Given the description of an element on the screen output the (x, y) to click on. 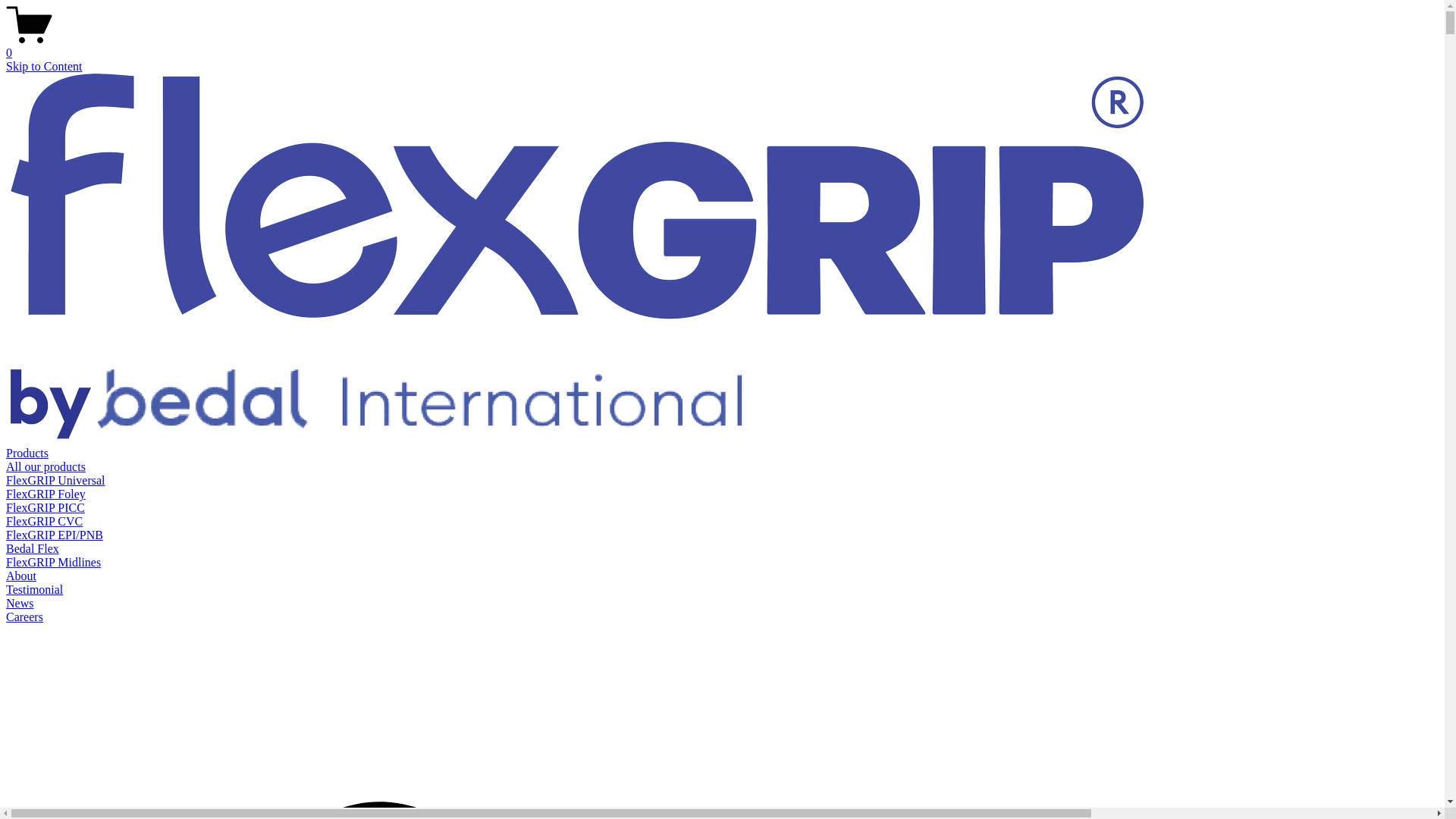
Careers Element type: text (24, 616)
About Element type: text (21, 575)
FlexGRIP Foley Element type: text (45, 493)
FlexGRIP Universal Element type: text (55, 479)
Bedal Flex Element type: text (32, 548)
FlexGRIP EPI/PNB Element type: text (54, 534)
Skip to Content Element type: text (43, 65)
All our products Element type: text (45, 466)
FlexGRIP Midlines Element type: text (53, 561)
FlexGRIP CVC Element type: text (44, 520)
Products Element type: text (27, 452)
Testimonial Element type: text (34, 589)
News Element type: text (19, 602)
FlexGRIP PICC Element type: text (45, 507)
0 Element type: text (722, 45)
